Given the description of an element on the screen output the (x, y) to click on. 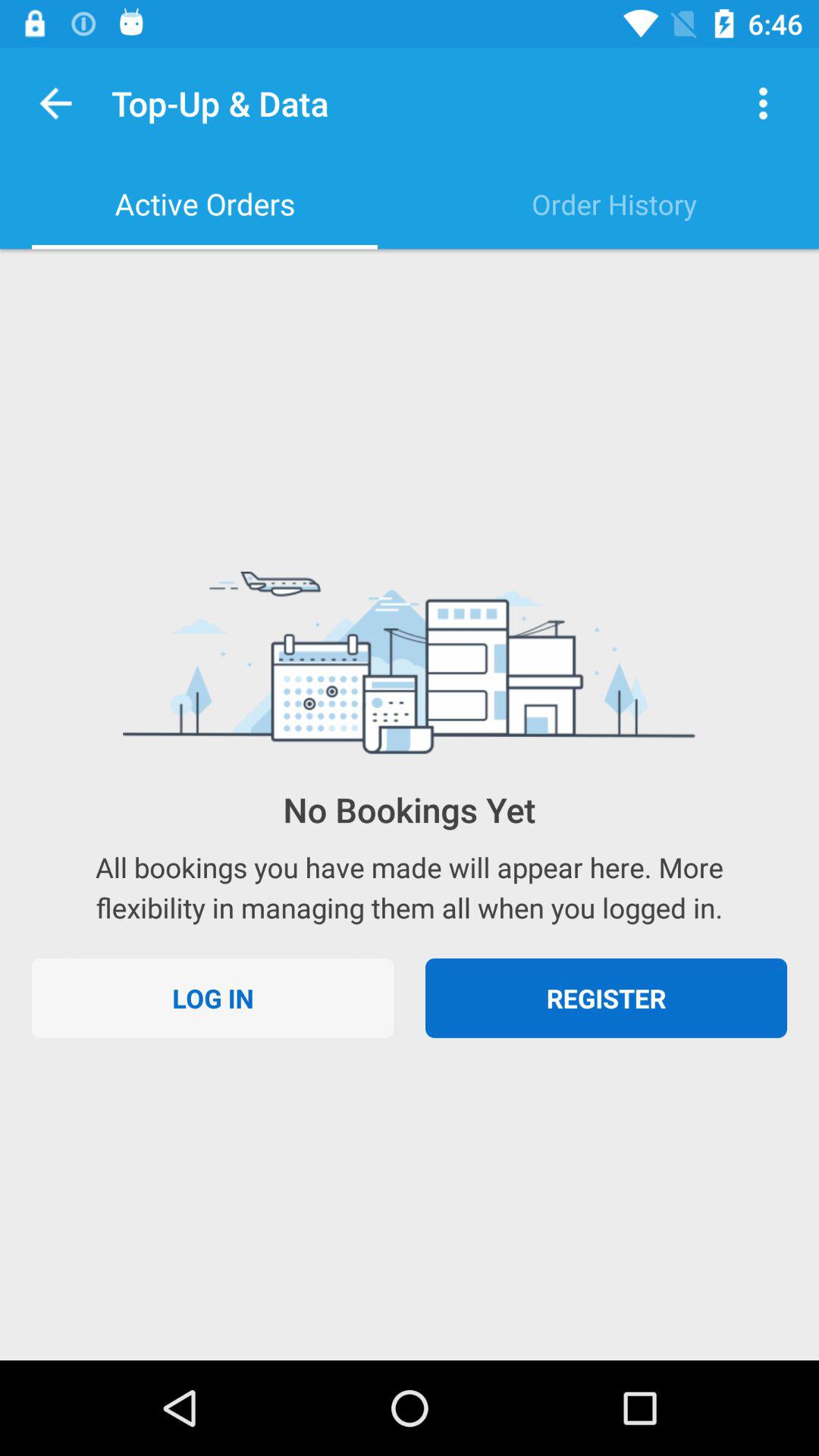
tap icon above order history item (763, 103)
